Given the description of an element on the screen output the (x, y) to click on. 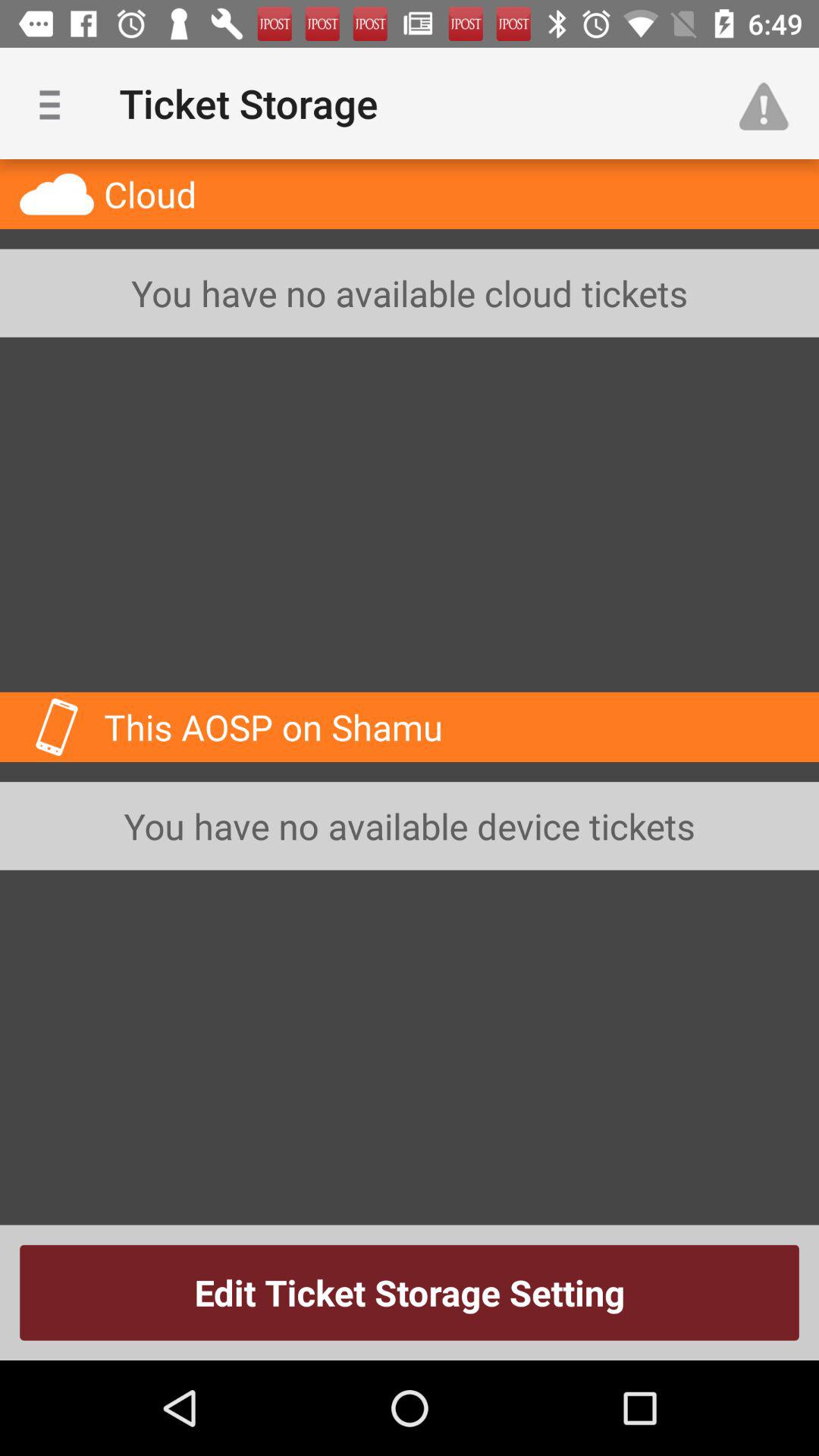
select the item above the you have no (771, 103)
